Given the description of an element on the screen output the (x, y) to click on. 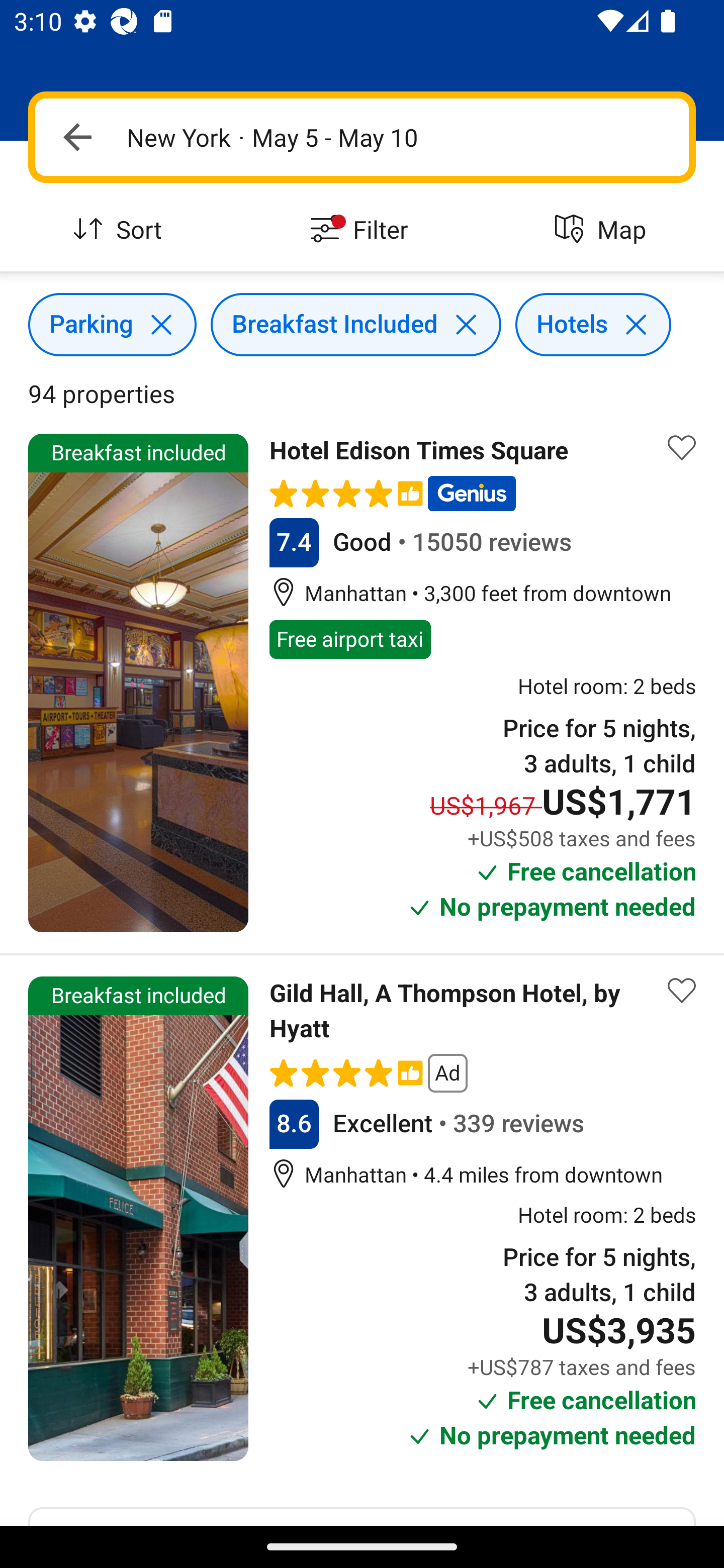
Navigate up New York · May 5 - May 10 (362, 136)
Navigate up (77, 136)
Sort (120, 230)
Filter (361, 230)
Map (603, 230)
Save property to list (681, 447)
Save property to list (681, 990)
